Given the description of an element on the screen output the (x, y) to click on. 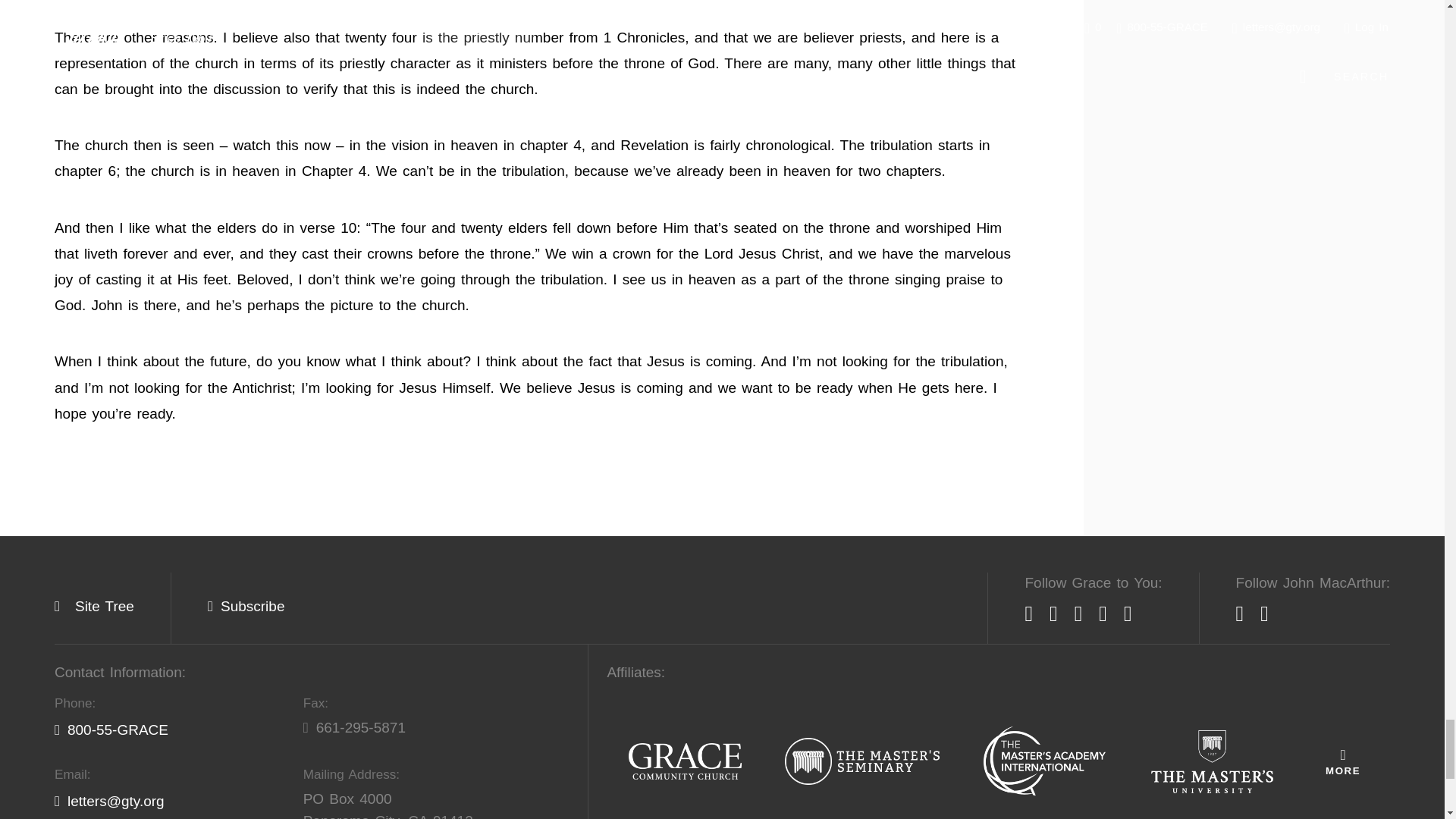
The Master' Seminary (862, 762)
The Master' University (1211, 762)
Grace Community Church (684, 762)
More Affiliates (1341, 761)
The Master' Academy International (1044, 761)
